Given the description of an element on the screen output the (x, y) to click on. 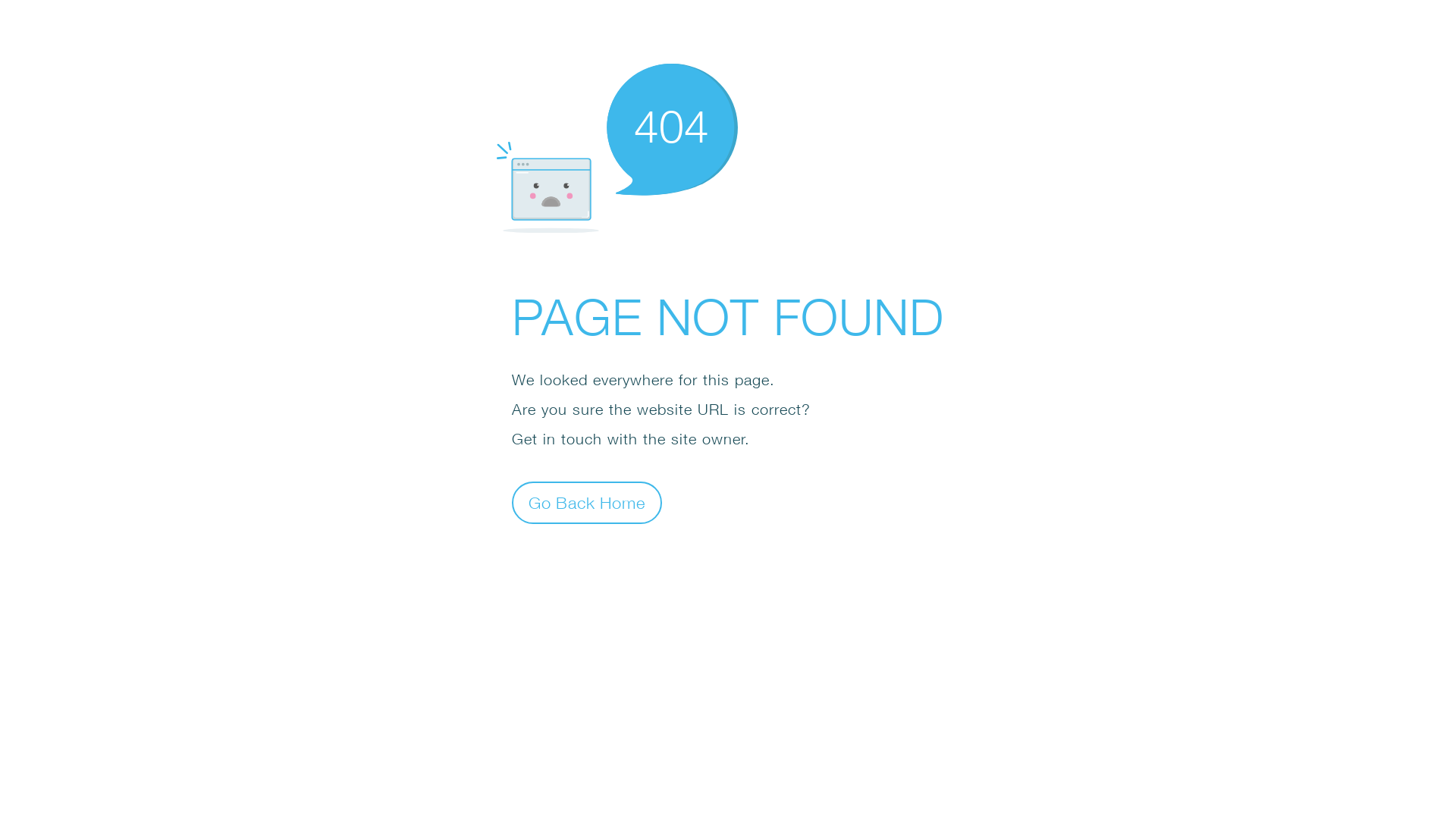
Go Back Home Element type: text (586, 502)
